Given the description of an element on the screen output the (x, y) to click on. 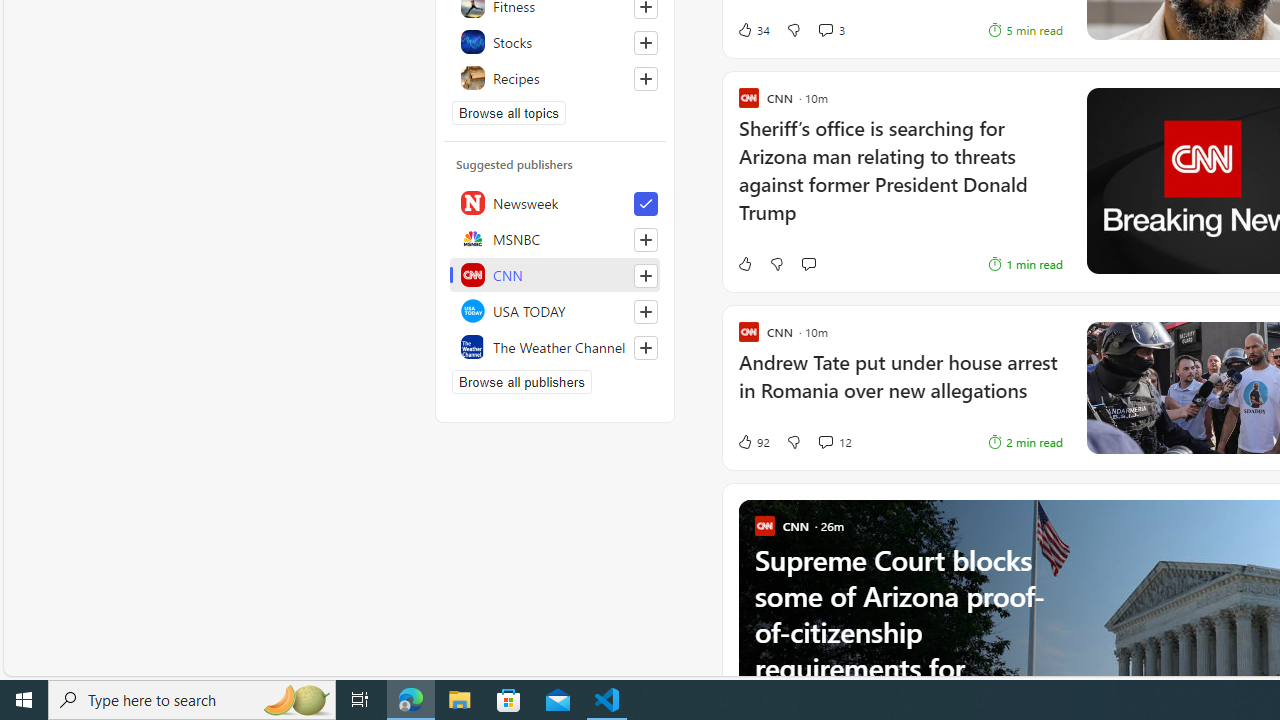
Newsweek (555, 202)
Follow this source (645, 348)
Browse all topics (509, 112)
View comments 12 Comment (825, 442)
View comments 12 Comment (834, 442)
View comments 3 Comment (825, 30)
Follow this topic (645, 78)
MSNBC (555, 238)
Stocks (555, 42)
The Weather Channel (555, 346)
